Given the description of an element on the screen output the (x, y) to click on. 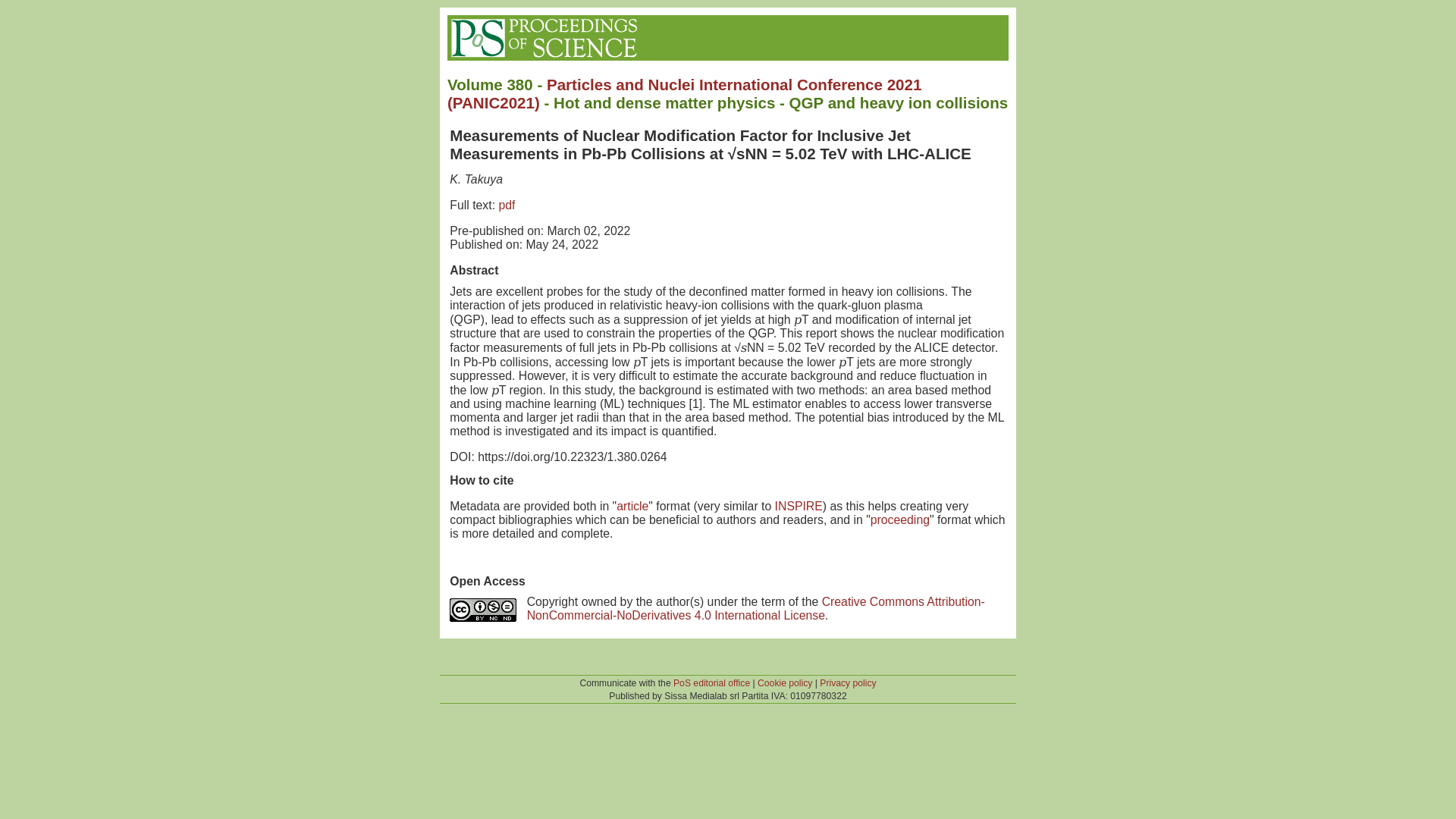
INSPIRE (798, 505)
Cookie policy (784, 683)
Privacy policy (847, 683)
pdf (506, 205)
article (631, 505)
Cookie policy (784, 683)
Privacy policy (847, 683)
PoS editorial office (710, 683)
proceeding (900, 519)
